Given the description of an element on the screen output the (x, y) to click on. 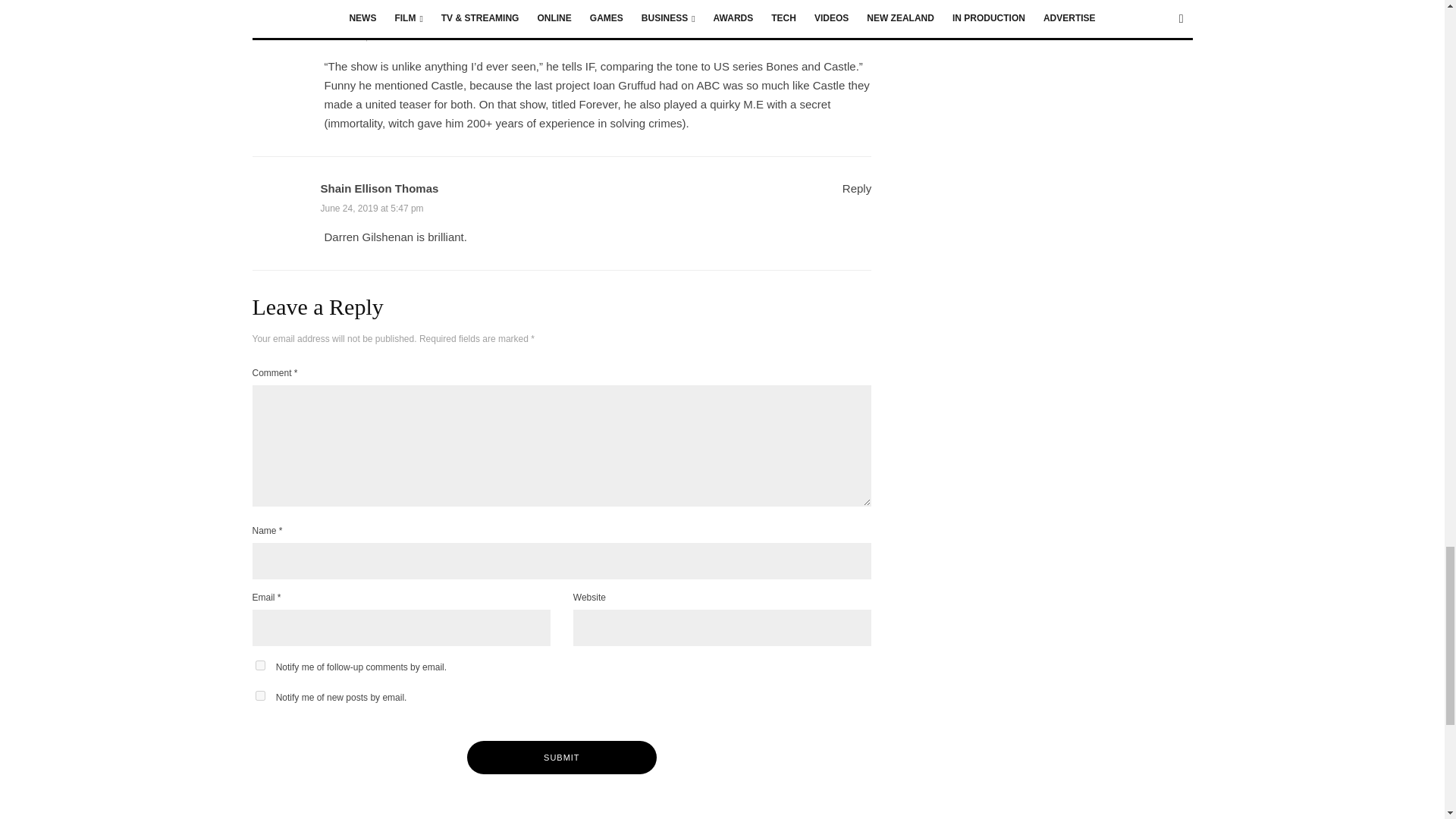
subscribe (259, 665)
subscribe (259, 696)
Submit (561, 757)
